Given the description of an element on the screen output the (x, y) to click on. 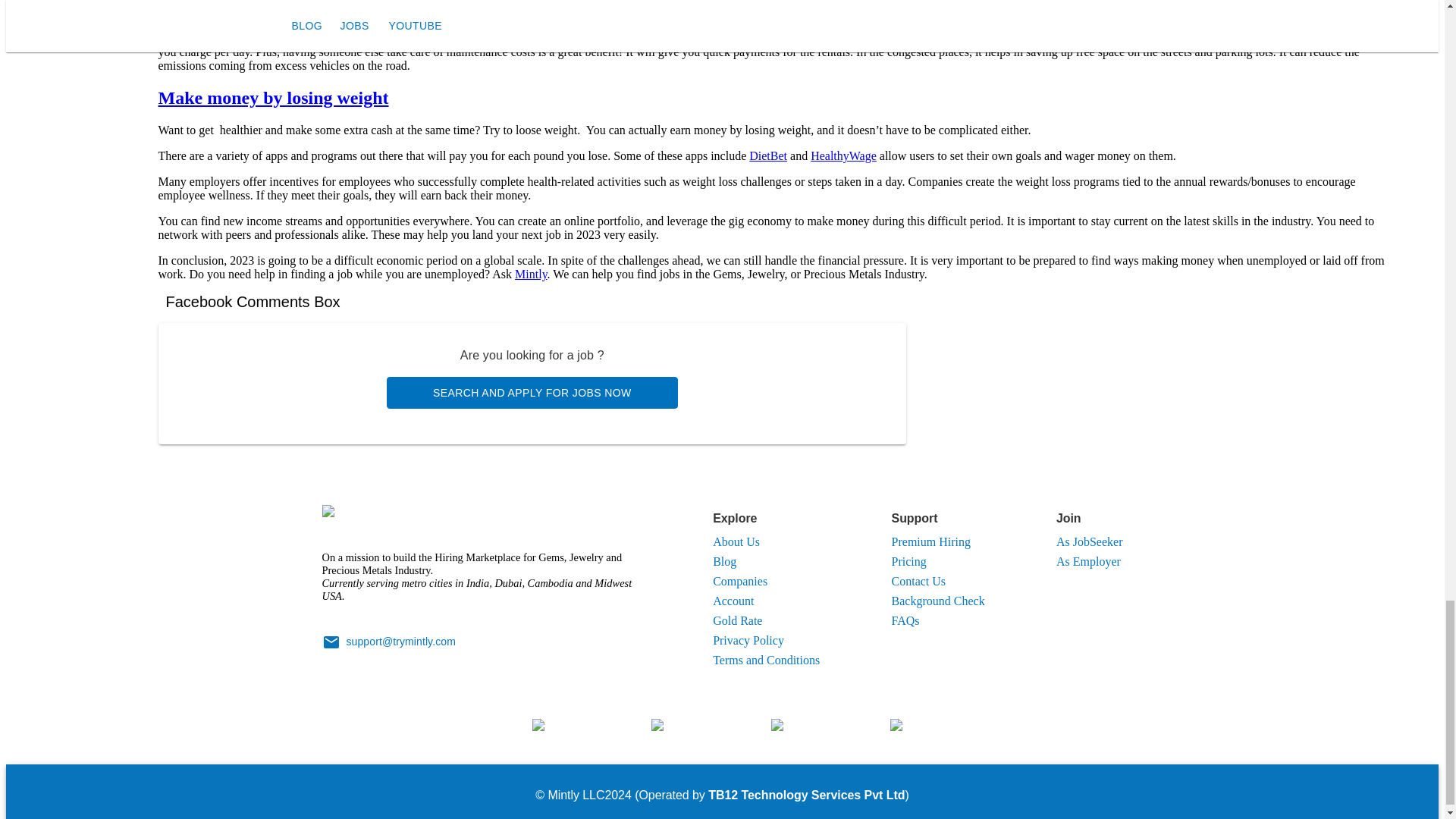
Support (938, 518)
Make money by losing weight (272, 97)
Mintly Logo (355, 516)
About Us (736, 541)
Support (1089, 518)
Privacy Policy (748, 640)
Privacy Policy (748, 640)
Premium Hiring (931, 541)
Mintly (531, 273)
Terms and Conditions (766, 659)
DietBet (768, 155)
Contact Us (918, 581)
Terms and Conditions (766, 659)
Pricing (908, 561)
Account (733, 600)
